Given the description of an element on the screen output the (x, y) to click on. 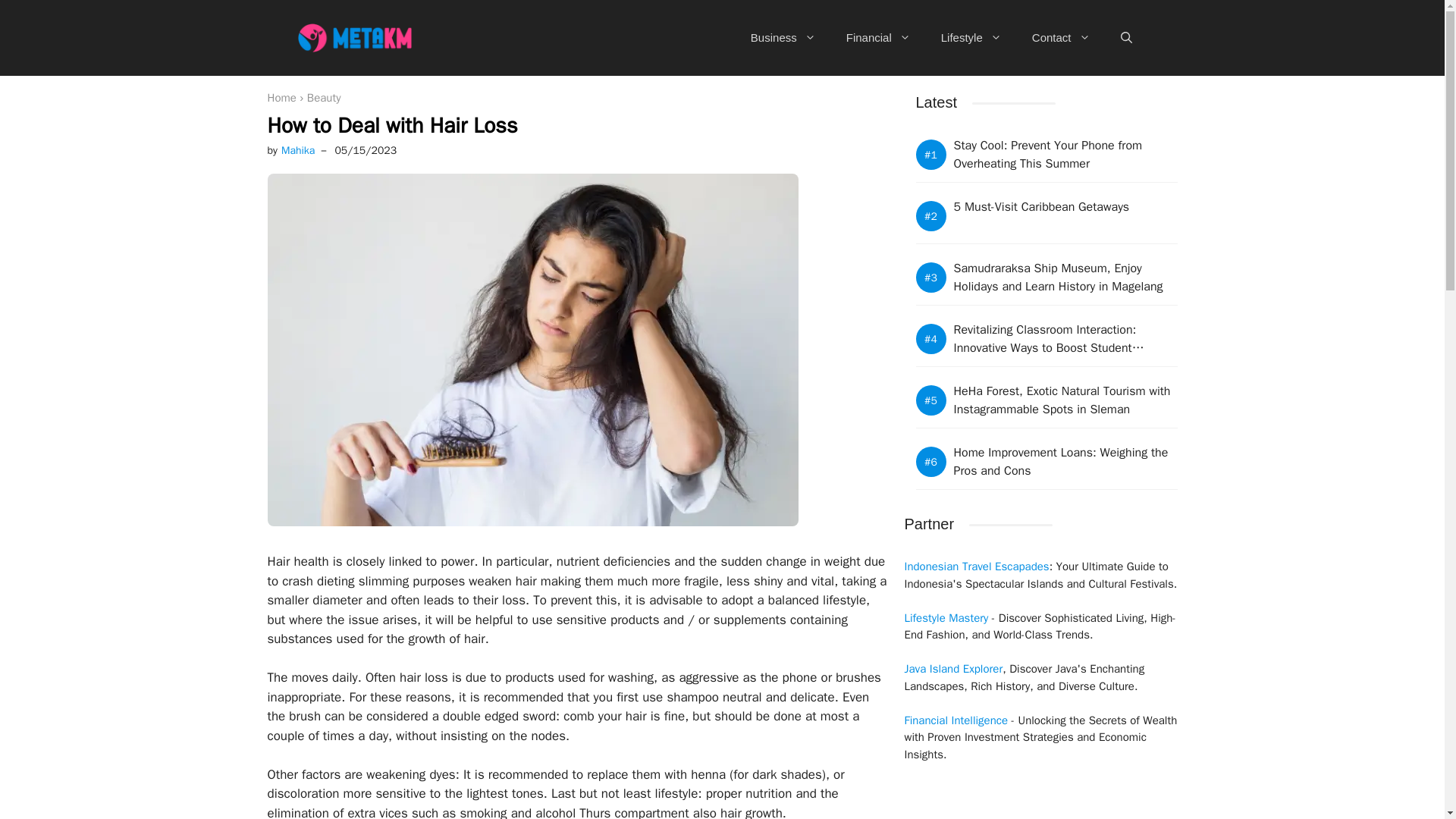
Contact (1060, 37)
Beauty (323, 97)
Financial (878, 37)
Business (783, 37)
Home (280, 97)
Mahika (297, 150)
How to Deal with Hair Loss (391, 125)
Lifestyle (971, 37)
